Given the description of an element on the screen output the (x, y) to click on. 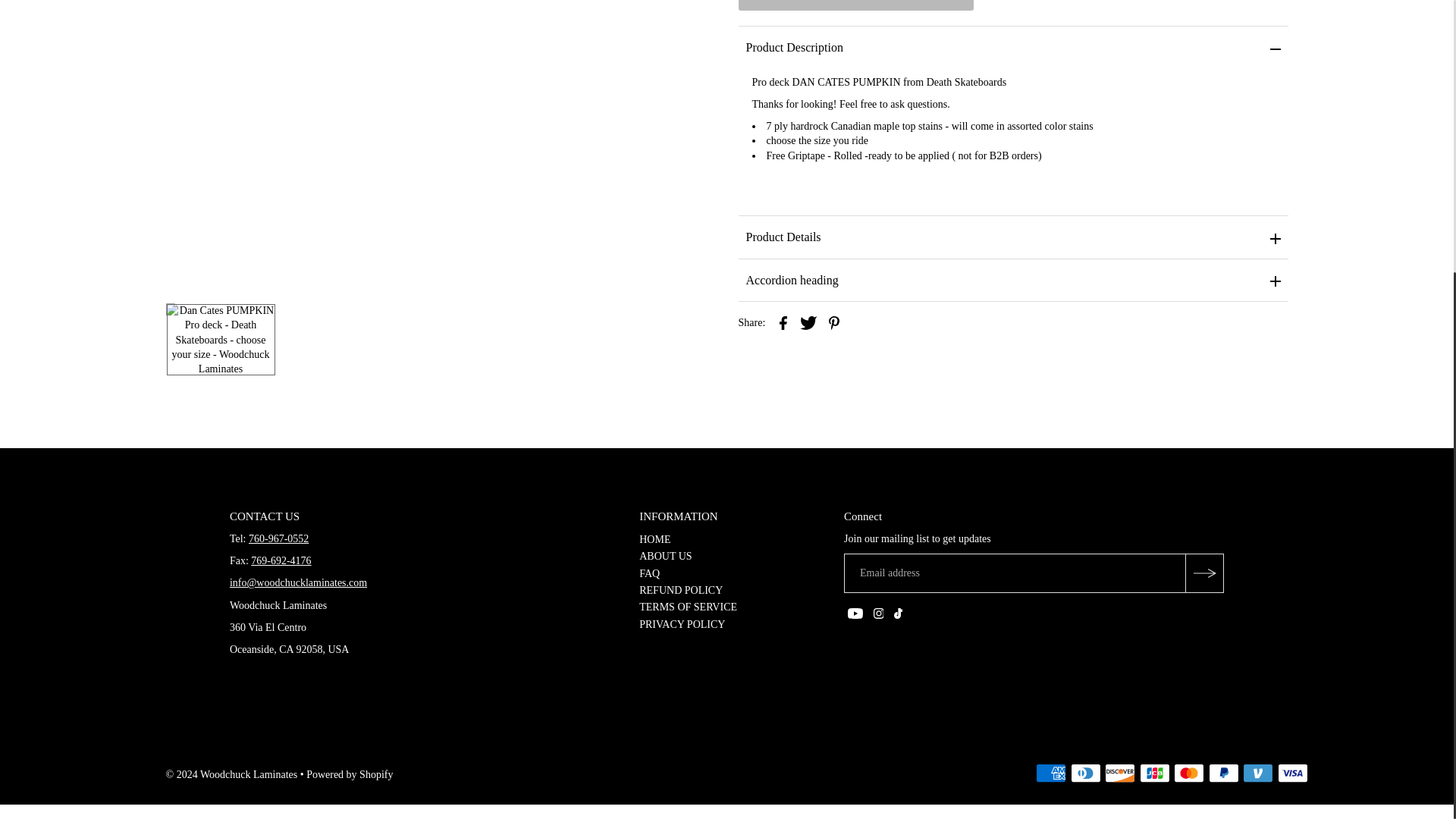
Share on Facebook (782, 322)
tel:7696924176 (280, 560)
Share on Twitter (807, 322)
Discover (1120, 772)
tel:7609670552 (278, 538)
Mastercard (1188, 772)
Diners Club (1085, 772)
Share on Pinterest (833, 322)
JCB (1155, 772)
PayPal (1223, 772)
